Given the description of an element on the screen output the (x, y) to click on. 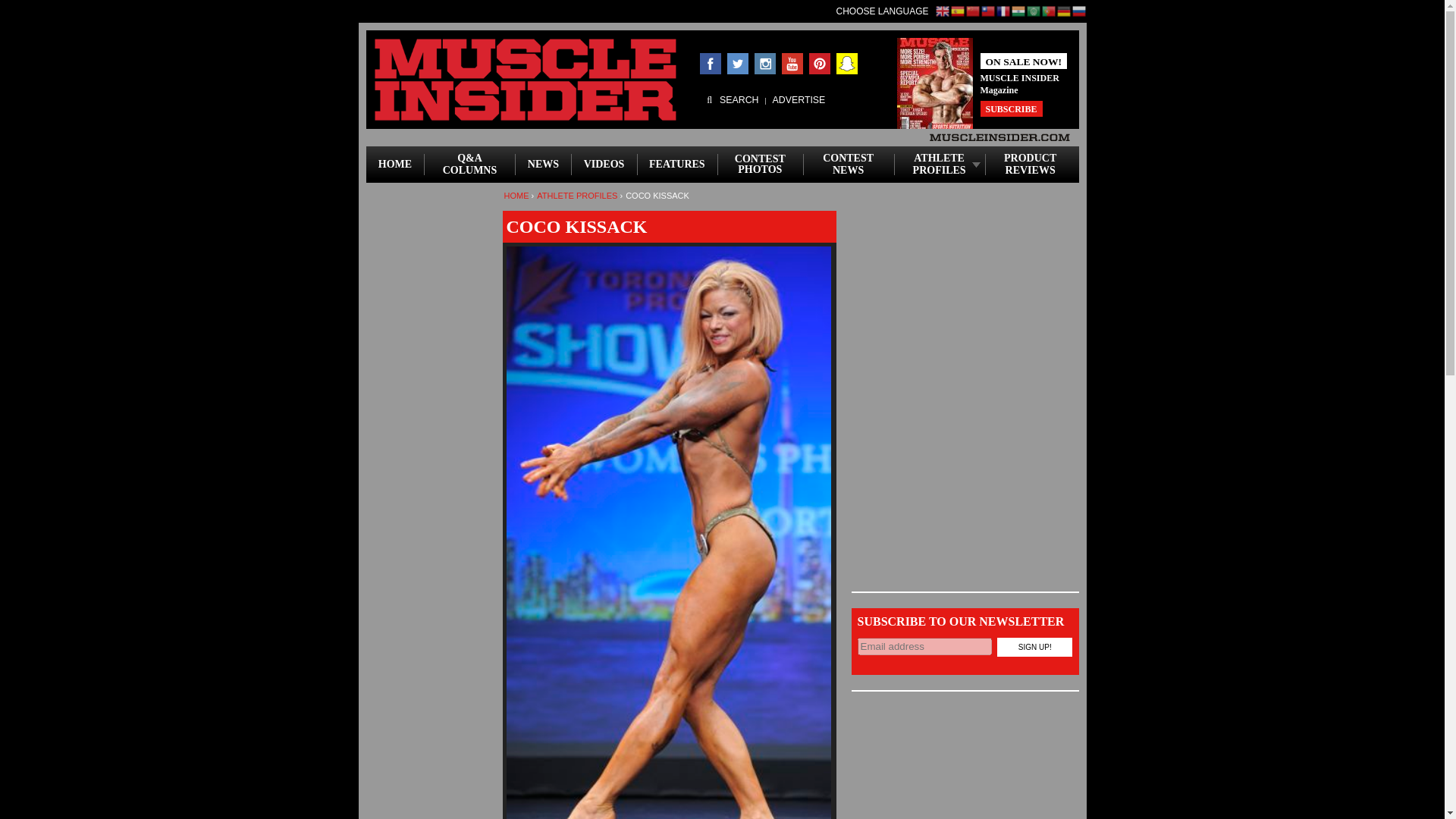
VIDEOS (603, 164)
Home (524, 79)
HOME (394, 164)
NEWS (542, 164)
FEATURES (677, 164)
Facebook (709, 63)
